Given the description of an element on the screen output the (x, y) to click on. 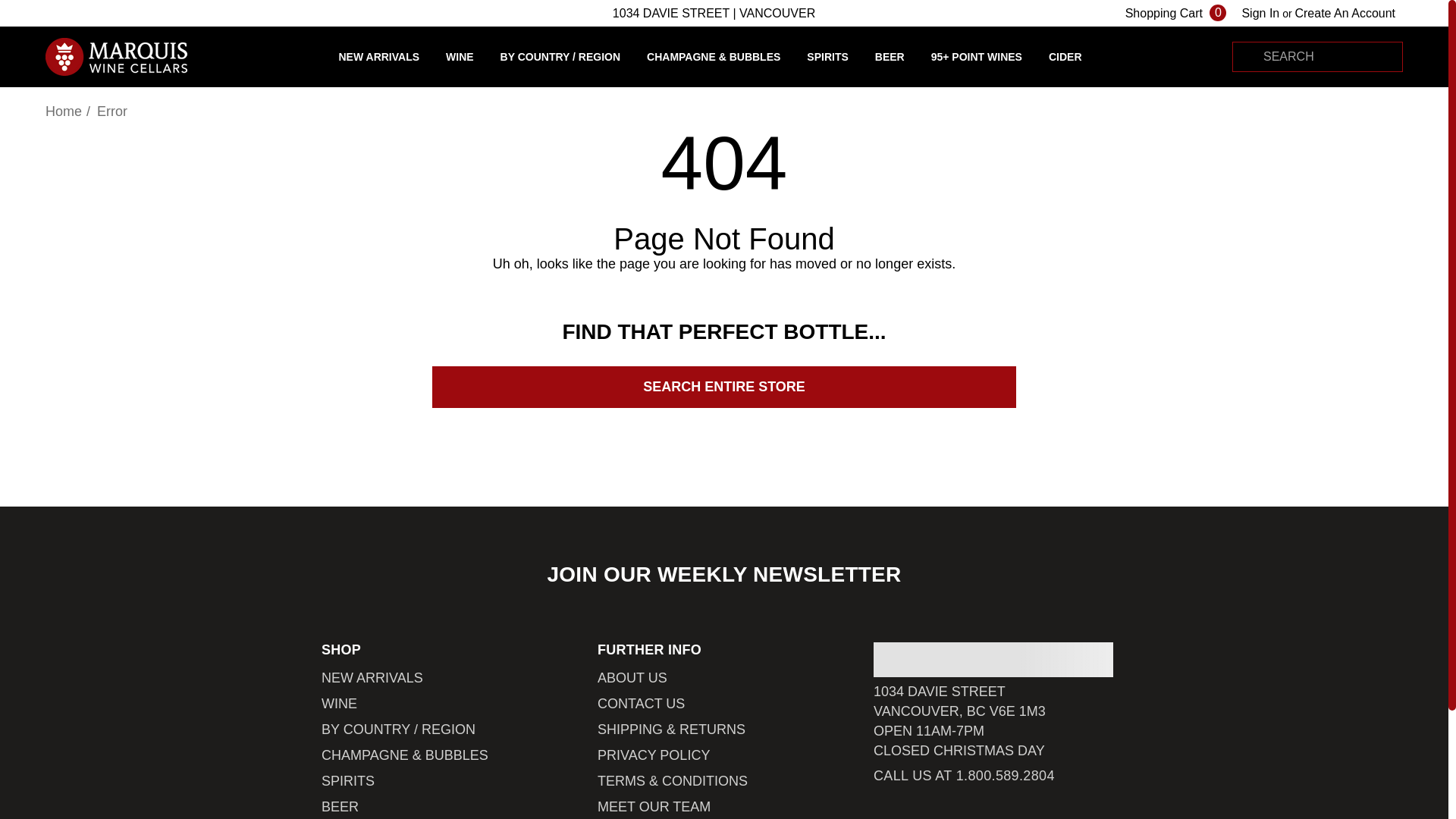
ABOUT US (631, 678)
PRIVACY POLICY (653, 755)
NEW ARRIVALS (372, 678)
NEW ARRIVALS (378, 56)
Create An Account (1344, 12)
facebook facebook (876, 816)
MEET OUR TEAM (653, 806)
Home (63, 111)
instagram instagram (941, 816)
Error (112, 111)
